Given the description of an element on the screen output the (x, y) to click on. 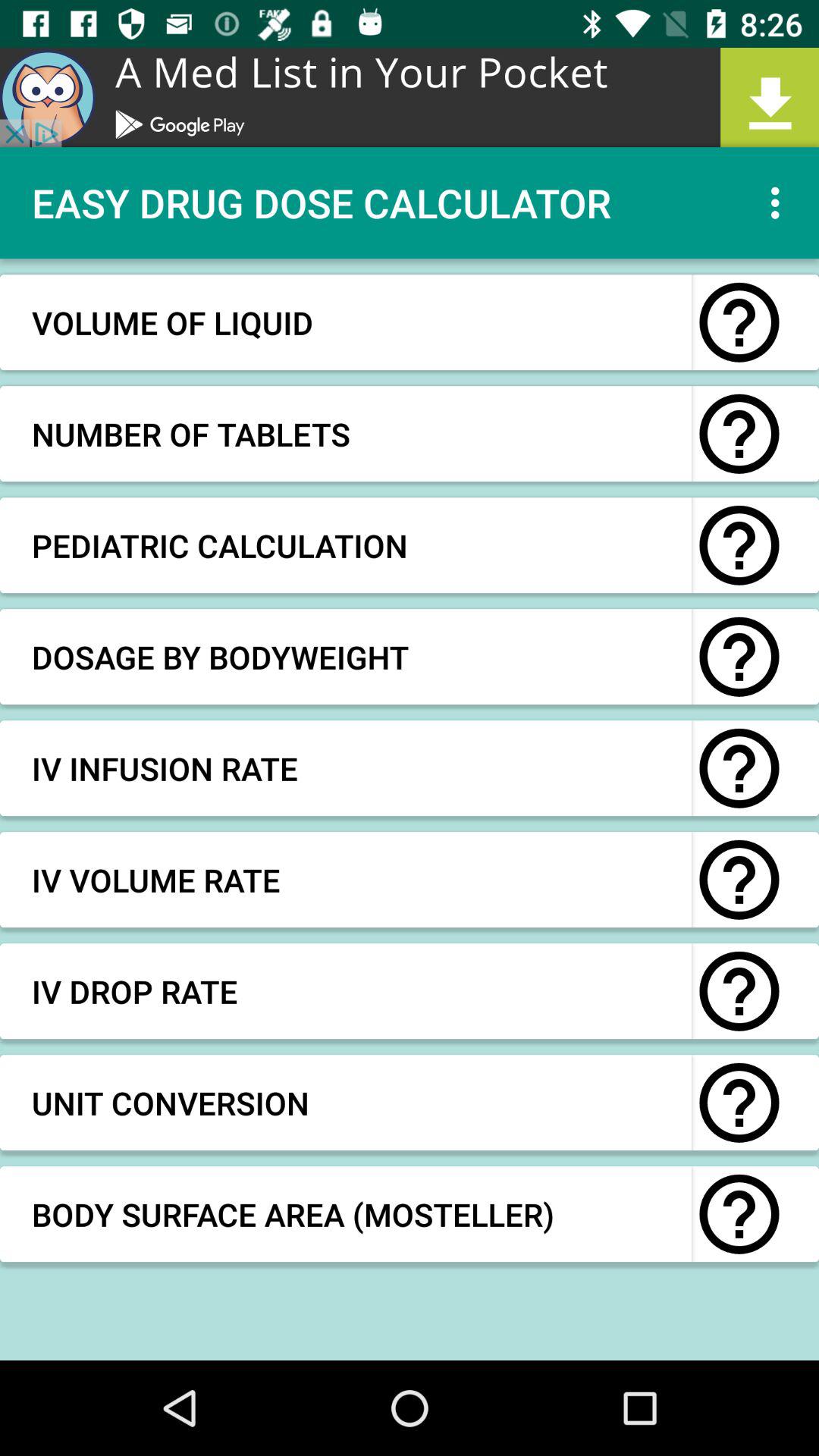
advertisement page (409, 97)
